Given the description of an element on the screen output the (x, y) to click on. 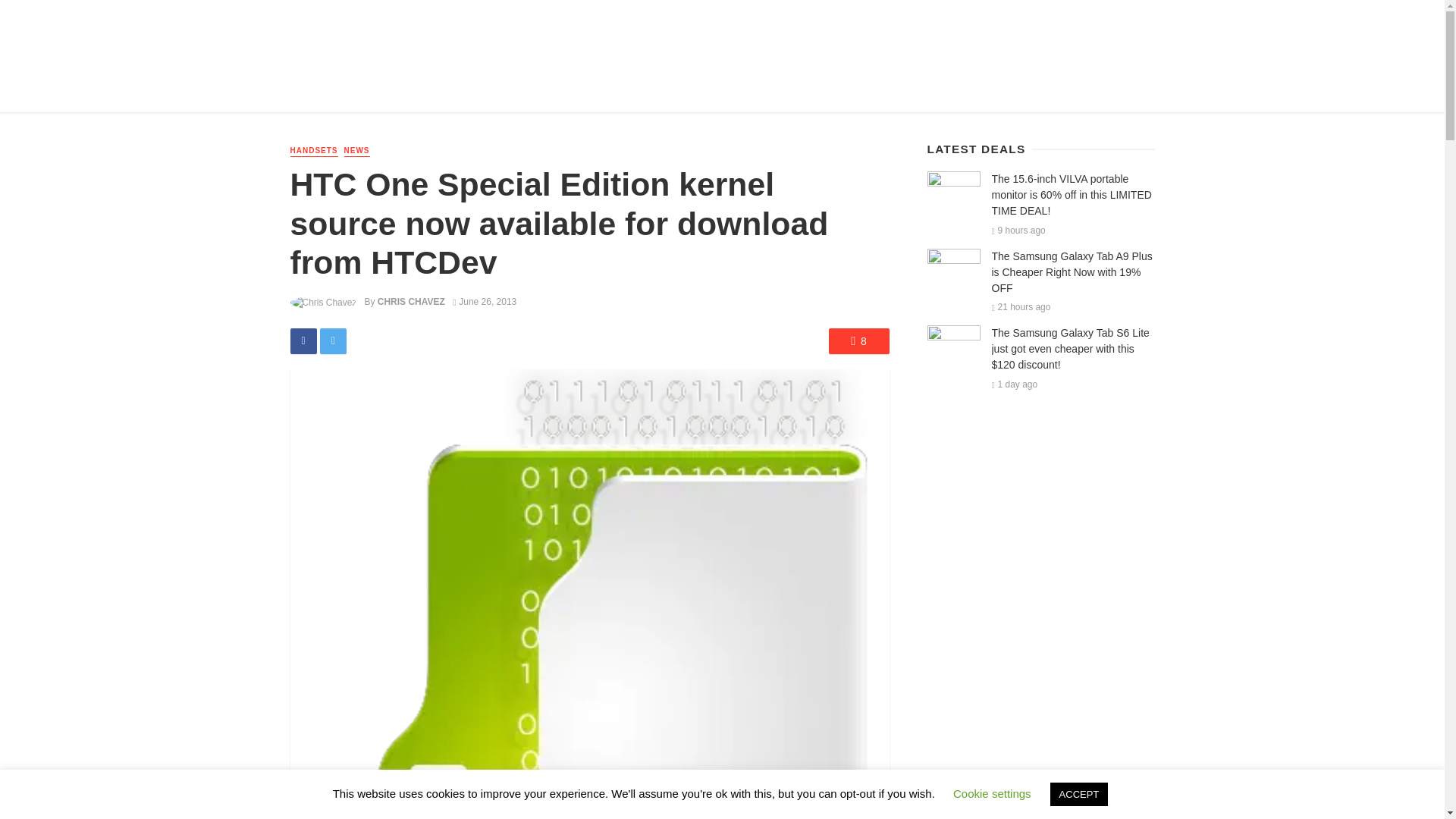
8 (858, 340)
June 26, 2013 at 1:12 pm (484, 301)
CHRIS CHAVEZ (411, 301)
MORE (612, 89)
HANDSETS (313, 151)
NEWS (356, 151)
DEALS (452, 89)
HOW TO (504, 89)
OPINION (560, 89)
NEWS (345, 89)
REVIEWS (398, 89)
Posts by Chris Chavez (411, 301)
